Given the description of an element on the screen output the (x, y) to click on. 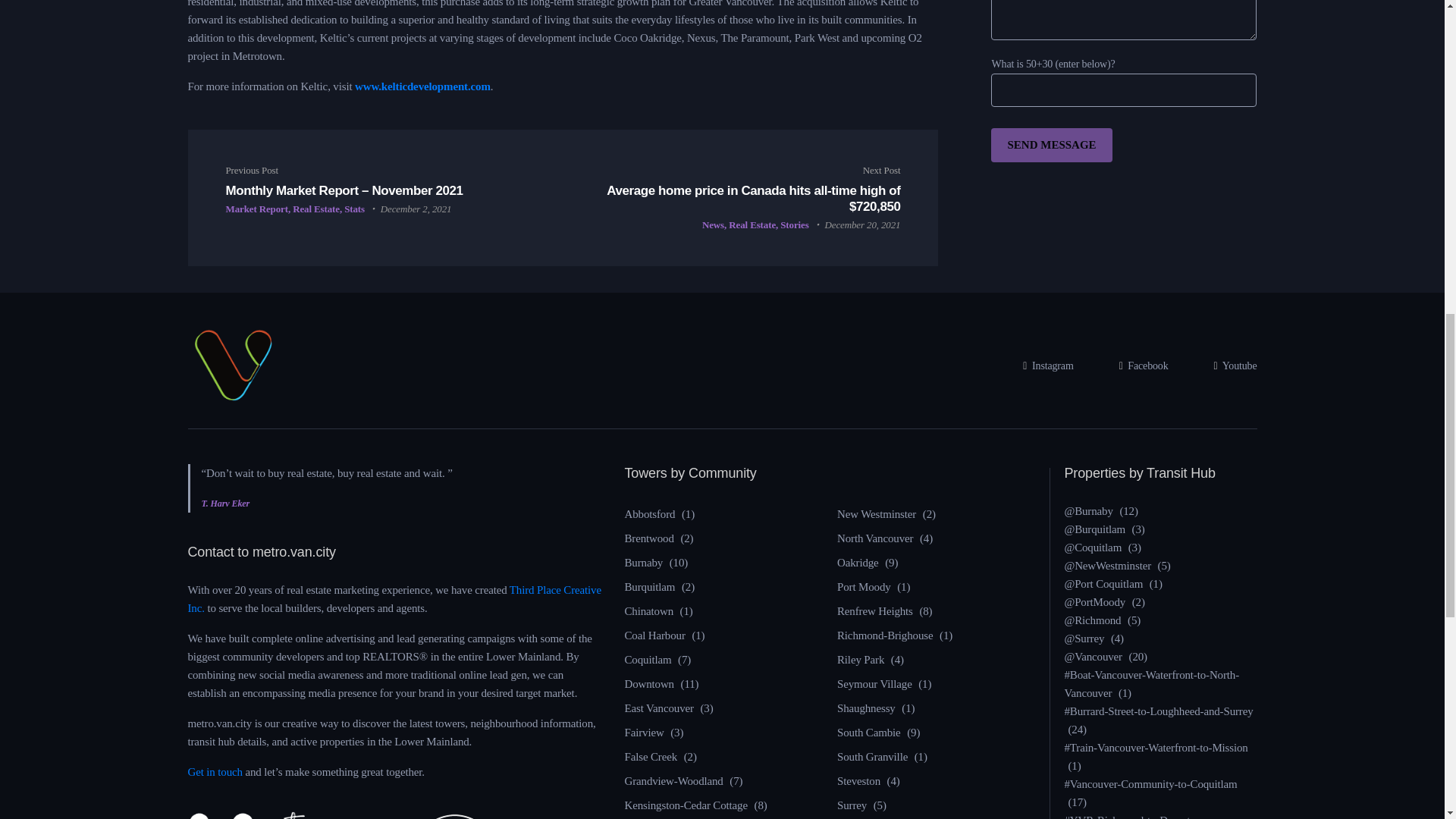
Send Message (1051, 144)
